Given the description of an element on the screen output the (x, y) to click on. 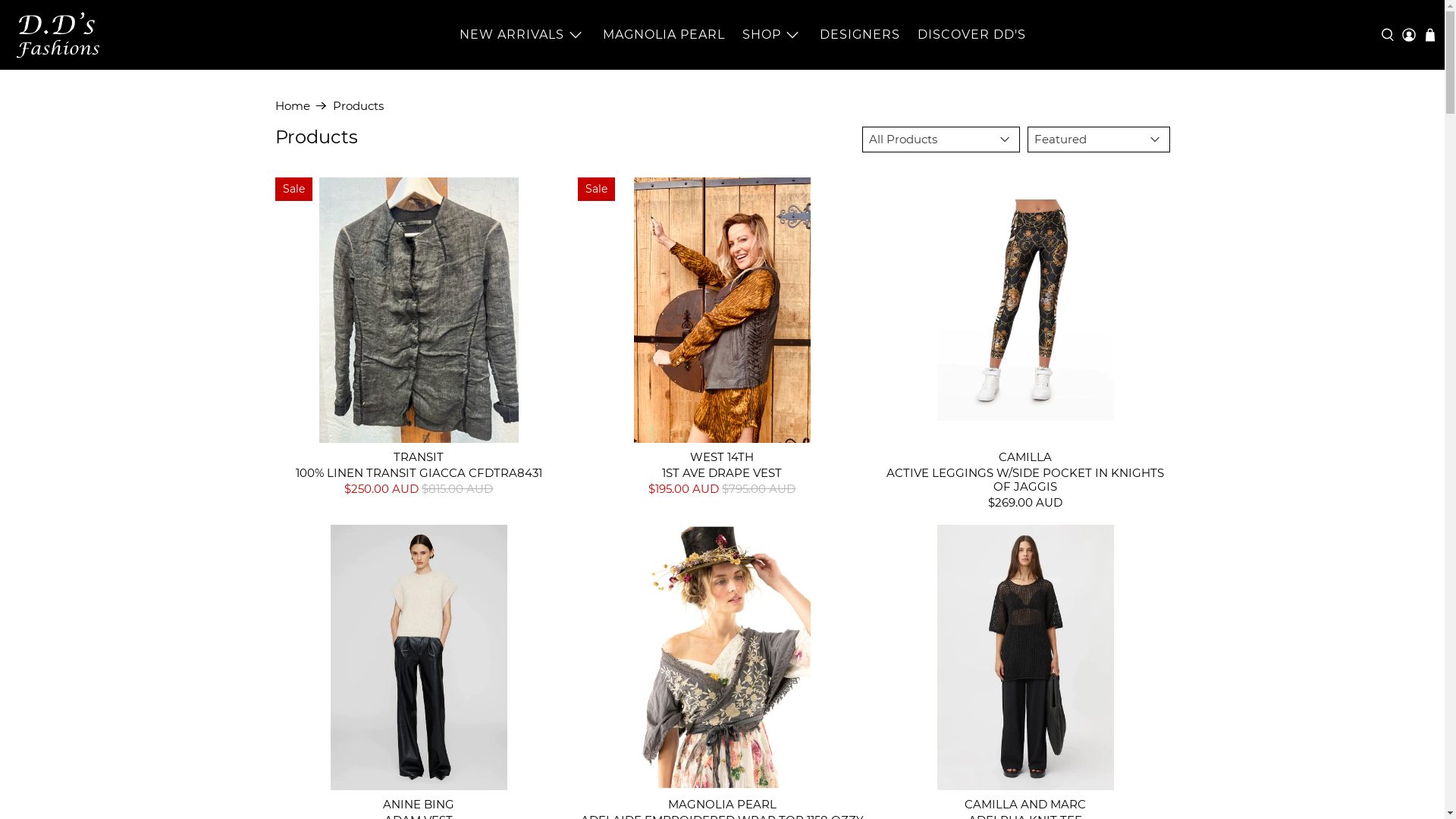
Home Element type: text (291, 105)
Products Element type: text (357, 105)
MAGNOLIA PEARL Element type: text (664, 34)
DESIGNERS Element type: text (860, 34)
1ST AVE DRAPE VEST Element type: text (721, 472)
Sale Element type: text (418, 309)
DISCOVER DD'S Element type: text (971, 34)
100% LINEN TRANSIT GIACCA CFDTRA8431 Element type: text (419, 472)
Sale Element type: text (721, 309)
ACTIVE LEGGINGS W/SIDE POCKET IN KNIGHTS OF JAGGIS Element type: text (1025, 478)
SHOP Element type: text (772, 34)
NEW ARRIVALS Element type: text (522, 34)
